Given the description of an element on the screen output the (x, y) to click on. 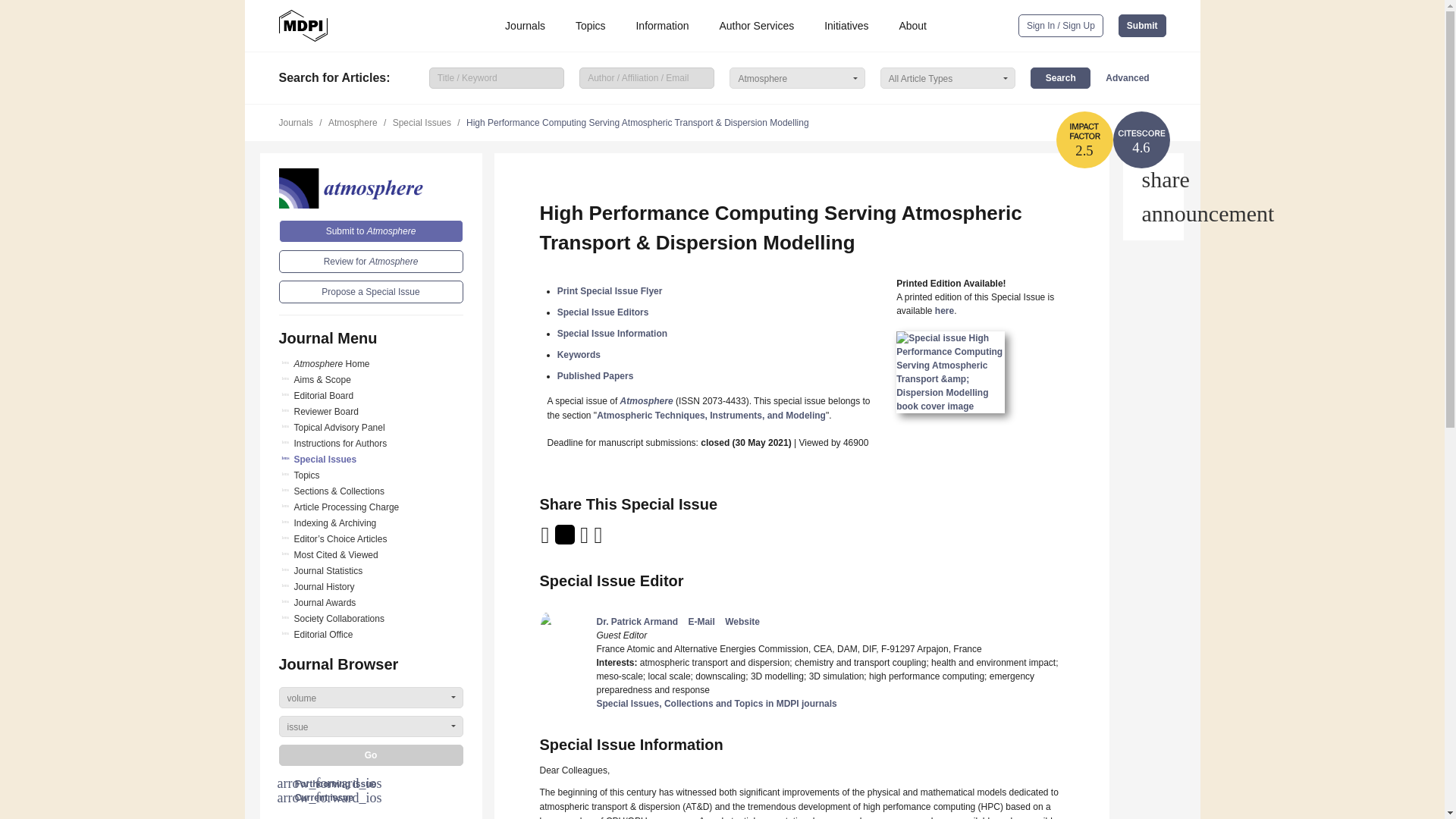
facebook (599, 539)
Go (371, 754)
Twitter (565, 539)
Search (1060, 77)
Wechat (617, 539)
Search (1060, 77)
MDPI Open Access Journals (303, 25)
LinkedIn (585, 539)
Atmosphere (371, 188)
Share (1152, 179)
Help (1152, 213)
Email (546, 539)
